Given the description of an element on the screen output the (x, y) to click on. 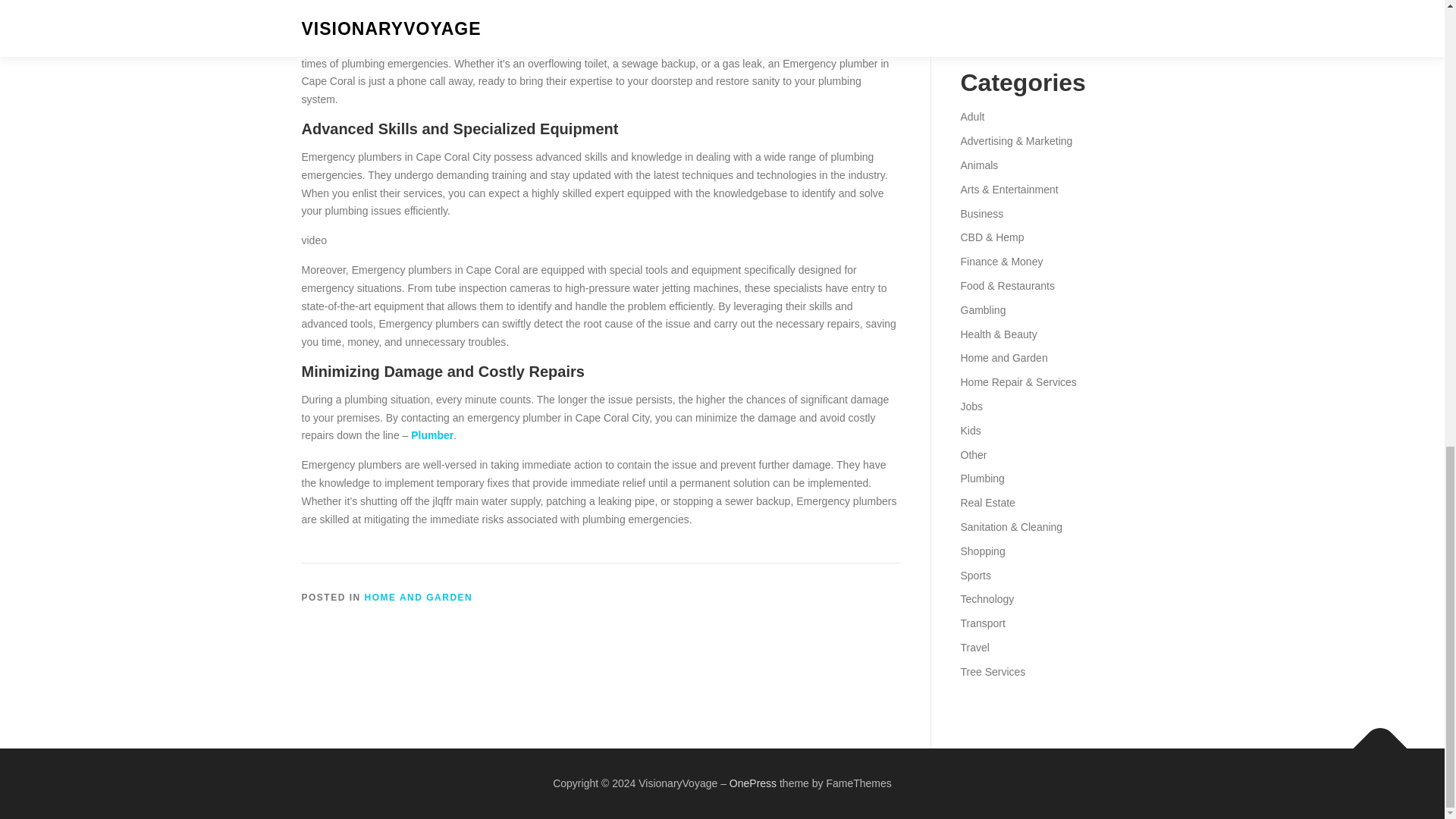
Business (981, 214)
April 2023 (983, 21)
Back To Top (1372, 740)
Adult (971, 116)
Animals (978, 164)
Plumber in Cape Coral (597, 11)
HOME AND GARDEN (419, 597)
Plumber (431, 435)
May 2023 (982, 2)
